Given the description of an element on the screen output the (x, y) to click on. 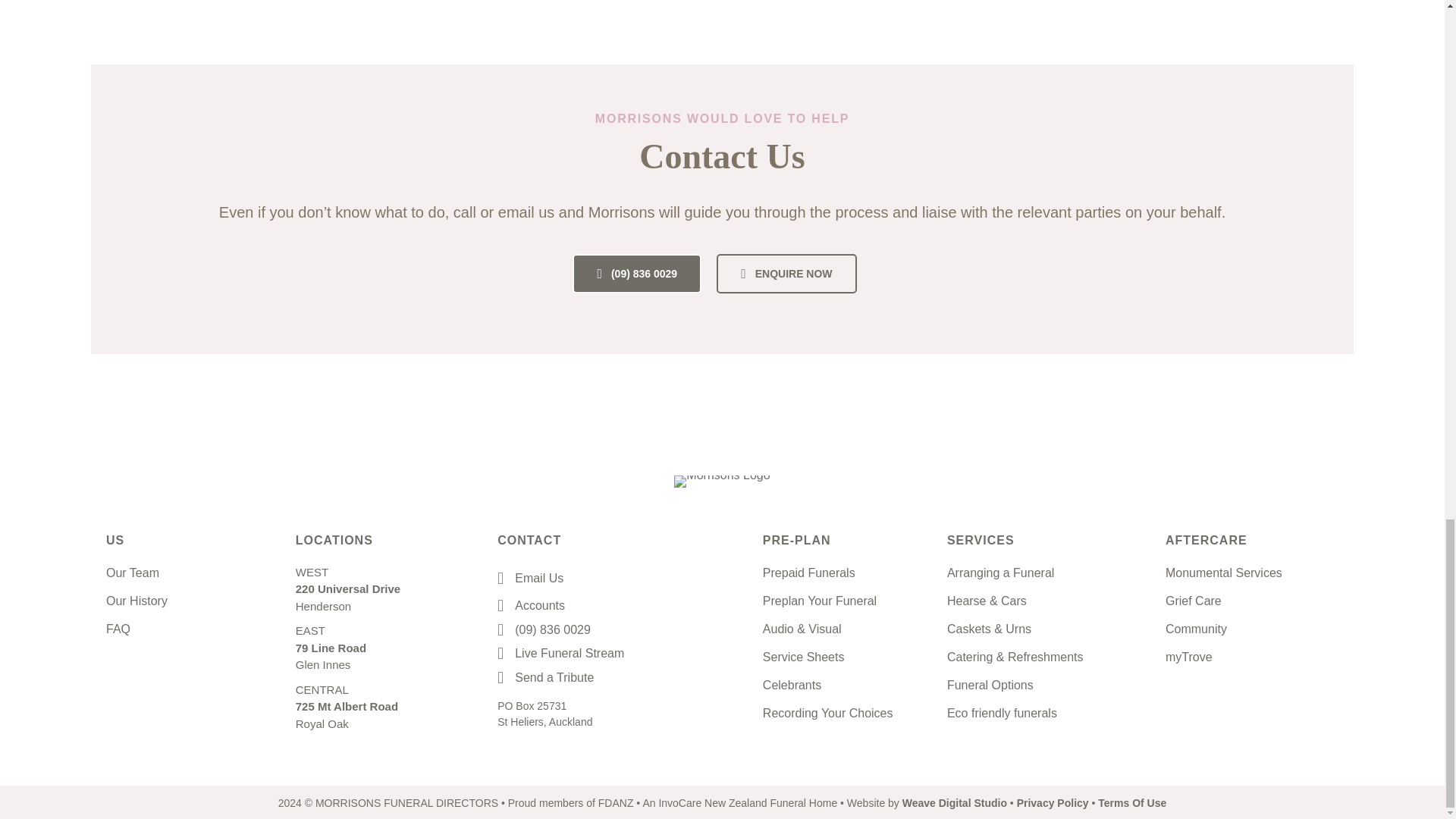
Morrisons Logo (722, 481)
Page 1 (553, 629)
ENQUIRE NOW (786, 273)
